Given the description of an element on the screen output the (x, y) to click on. 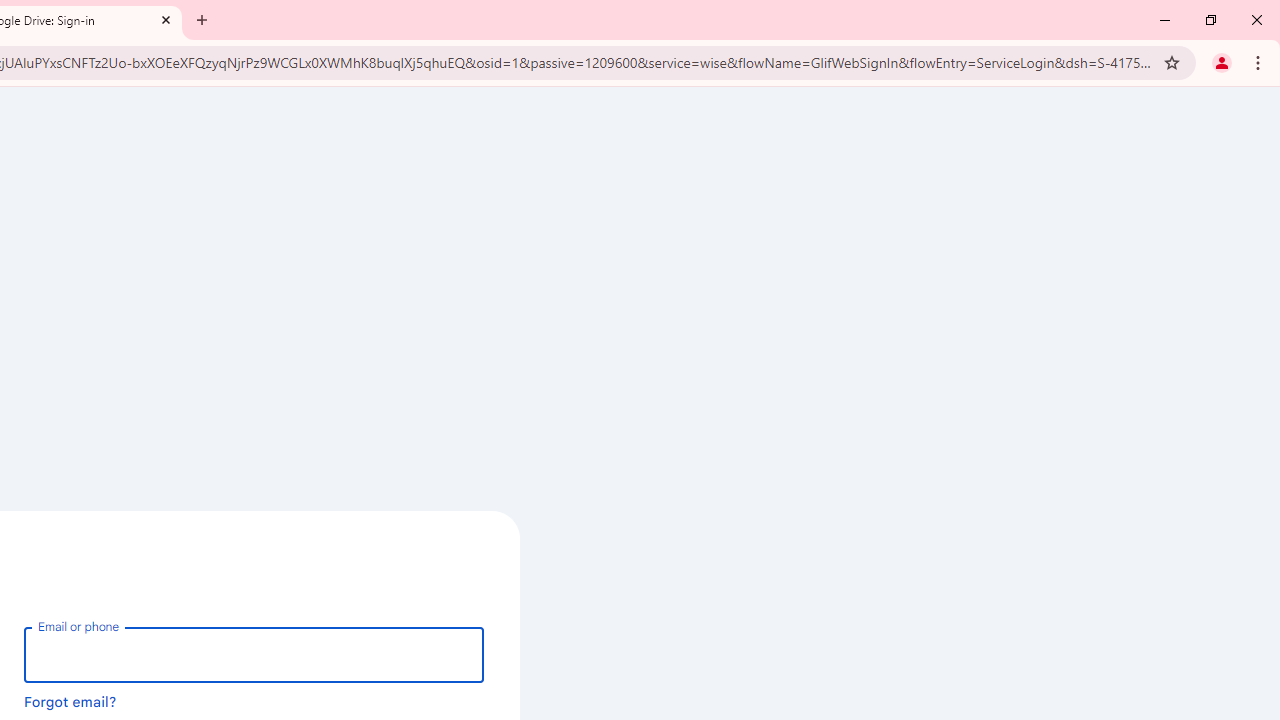
Chrome (1260, 62)
Email or phone (253, 654)
Bookmark this tab (1171, 62)
New Tab (202, 20)
You (1221, 62)
Forgot email? (70, 701)
Minimize (1165, 20)
Restore (1210, 20)
